Given the description of an element on the screen output the (x, y) to click on. 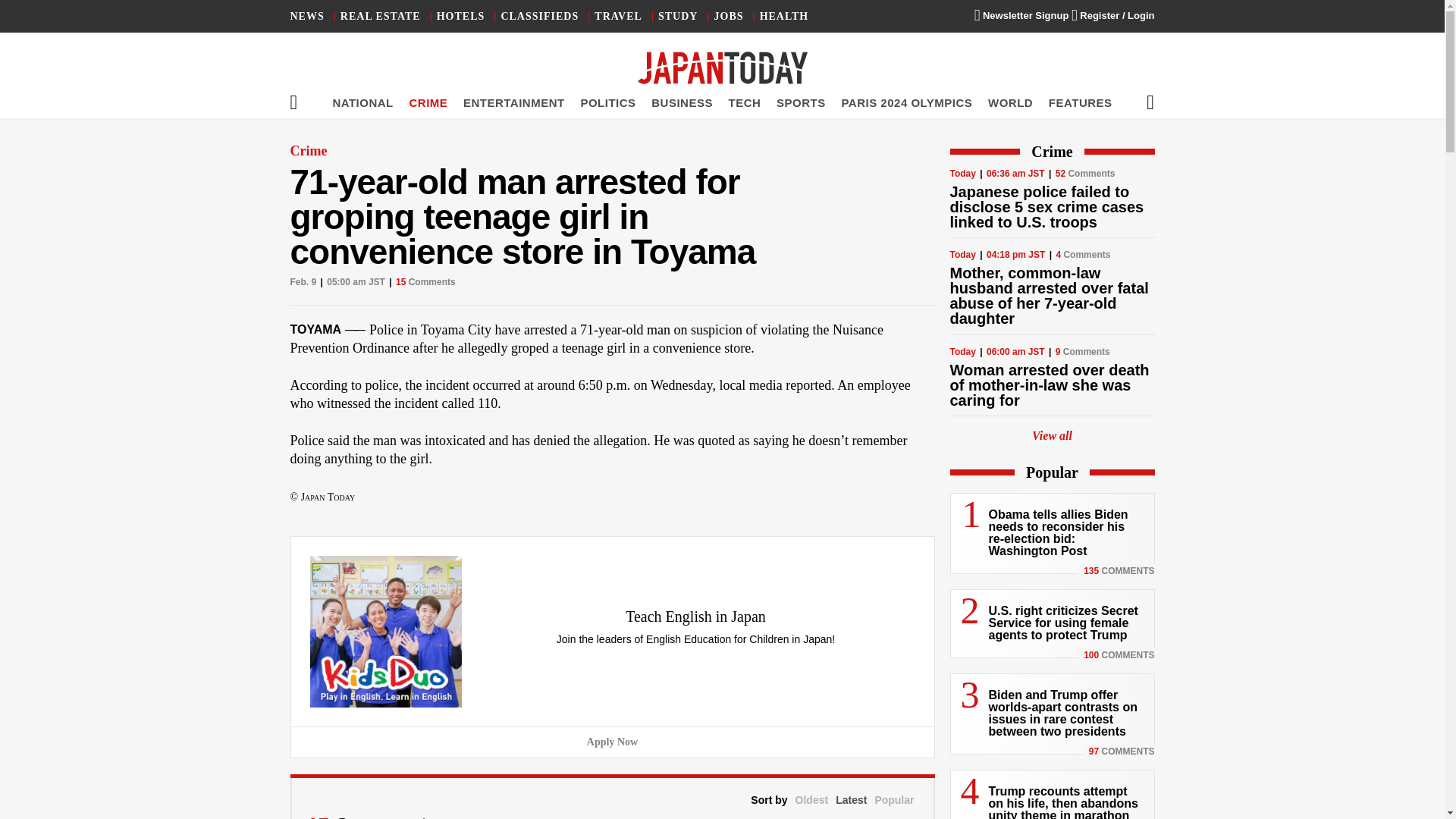
STUDY (677, 16)
CLASSIFIEDS (539, 16)
NATIONAL (362, 102)
HOTELS (460, 16)
Newsletter Signup (1021, 15)
Login to comment (484, 816)
REAL ESTATE (380, 16)
JOBS (729, 16)
BUSINESS (681, 102)
TRAVEL (618, 16)
POLITICS (606, 102)
FEATURES (1080, 102)
Japan Today (721, 67)
Japan Today (721, 67)
